Given the description of an element on the screen output the (x, y) to click on. 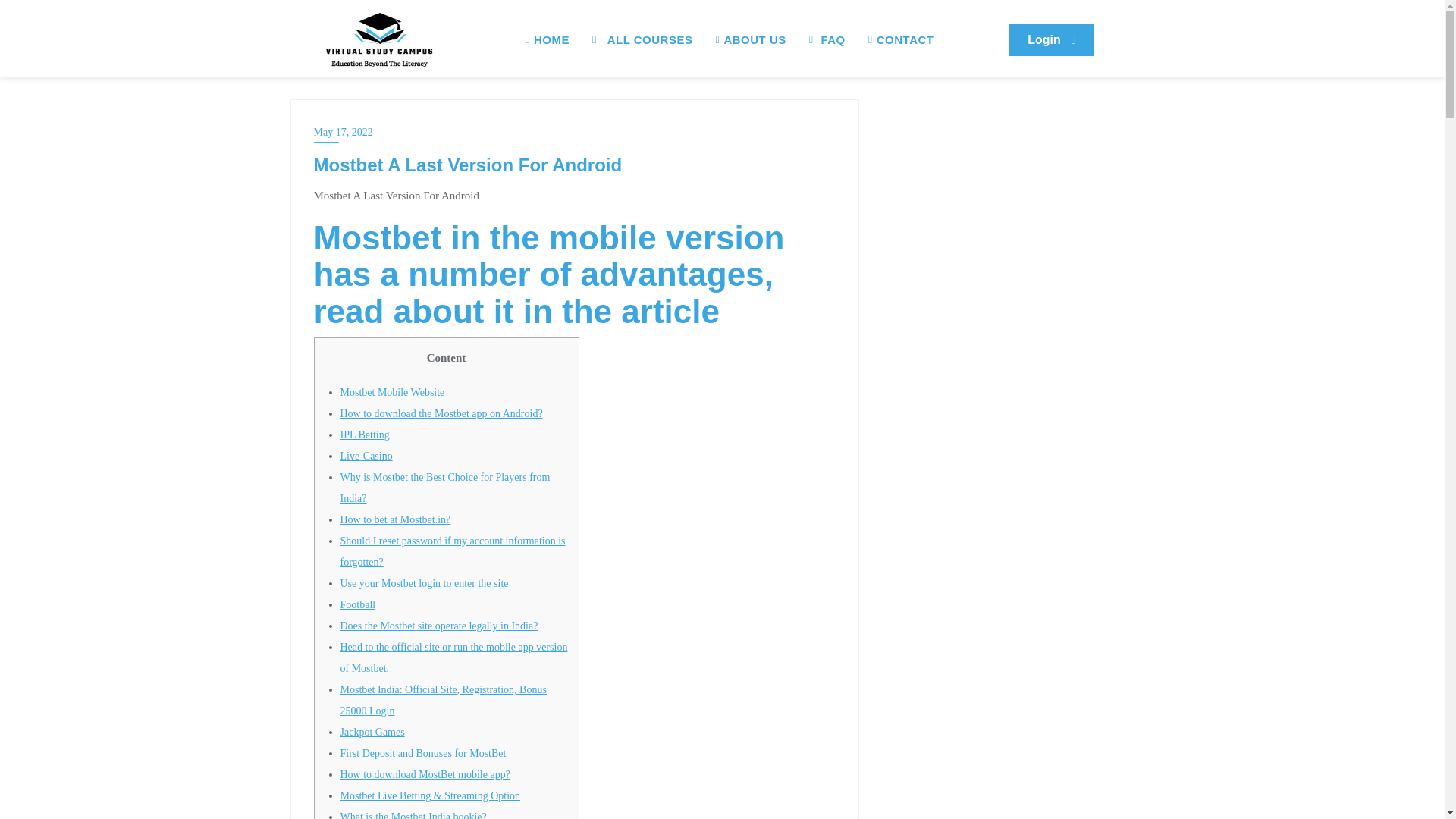
How to bet at Mostbet.in? (394, 519)
Mostbet Mobile Website (391, 392)
  ALL COURSES (642, 40)
First Deposit and Bonuses for MostBet (422, 753)
Why is Mostbet the Best Choice for Players from India? (444, 487)
HOME (546, 40)
ABOUT US (749, 40)
How to download the Mostbet app on Android? (440, 413)
Jackpot Games (371, 731)
Live-Casino (365, 455)
May 17, 2022 (574, 131)
CONTACT (900, 40)
